Given the description of an element on the screen output the (x, y) to click on. 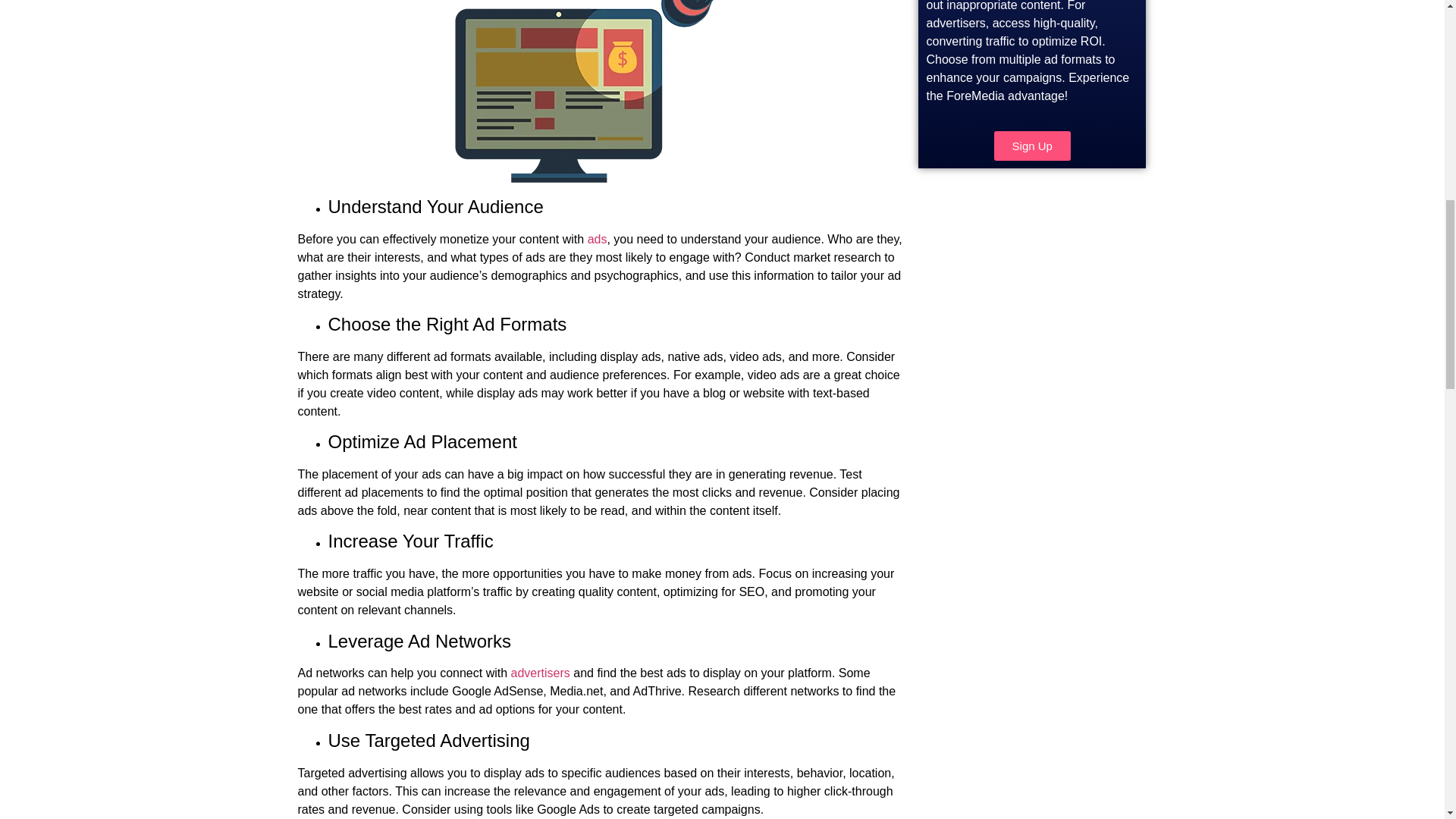
advertisers (540, 672)
ads (597, 238)
advertisers (540, 672)
Sign Up (1032, 145)
ads (597, 238)
